Given the description of an element on the screen output the (x, y) to click on. 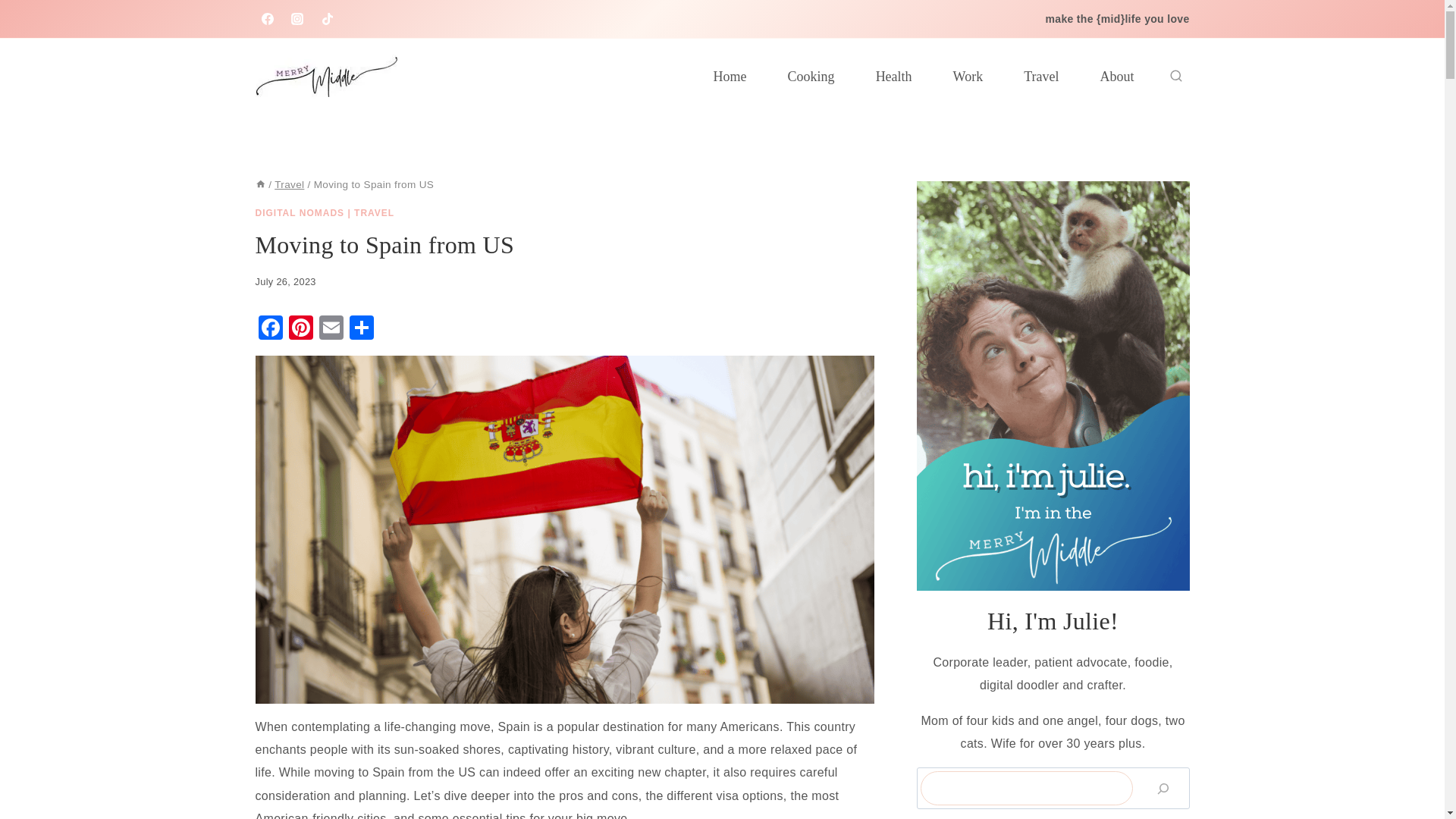
Travel (1040, 76)
Health (894, 76)
Facebook (269, 329)
Travel (289, 184)
About (1117, 76)
Cooking (811, 76)
TRAVEL (373, 213)
Work (968, 76)
Email (330, 329)
DIGITAL NOMADS (298, 213)
Home (730, 76)
Share (360, 329)
Pinterest (300, 329)
Pinterest (300, 329)
Facebook (269, 329)
